Given the description of an element on the screen output the (x, y) to click on. 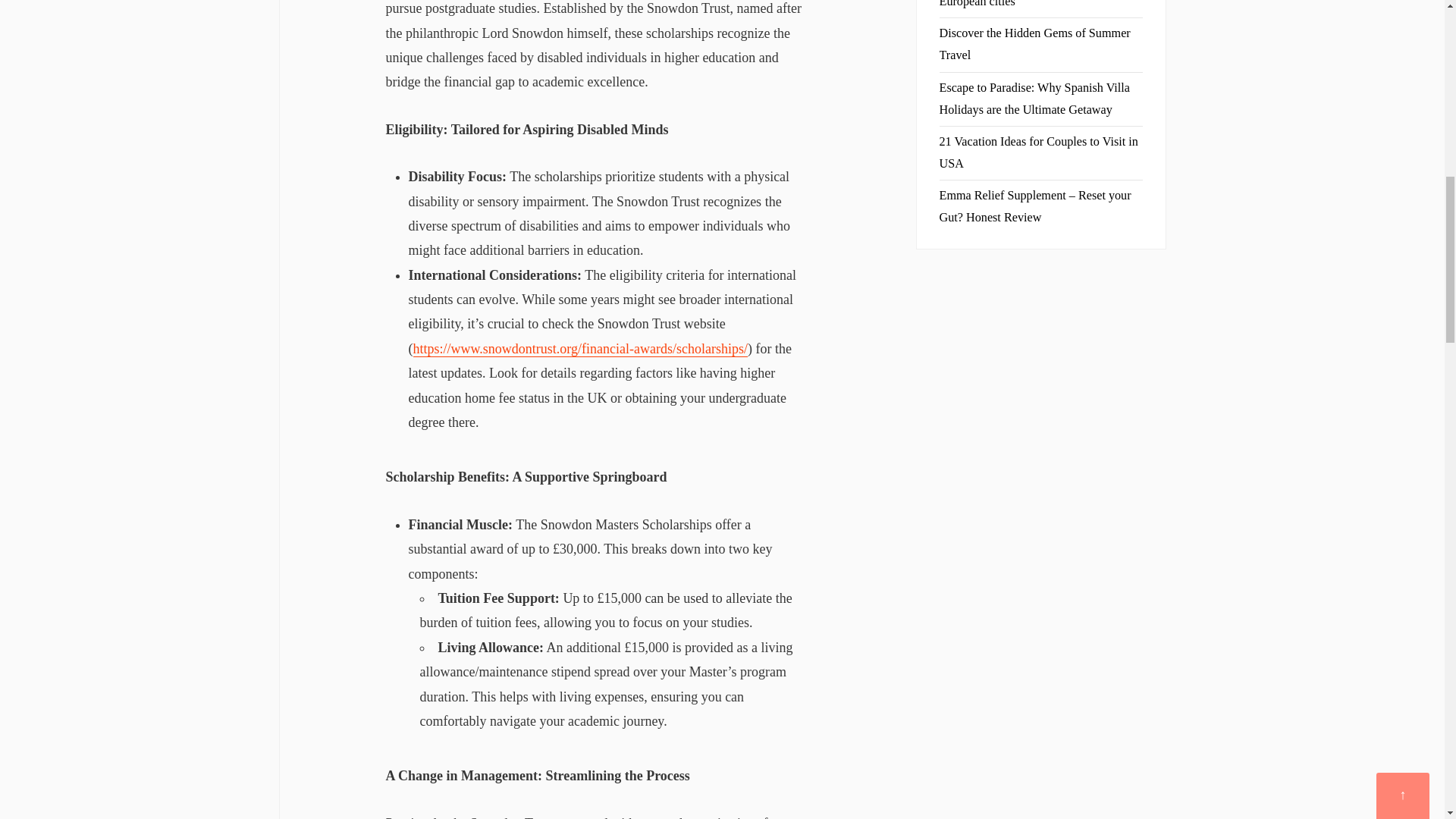
Scroll to top (1402, 1)
16 lesser-known but Instagram-worthy European cities (1034, 4)
